Given the description of an element on the screen output the (x, y) to click on. 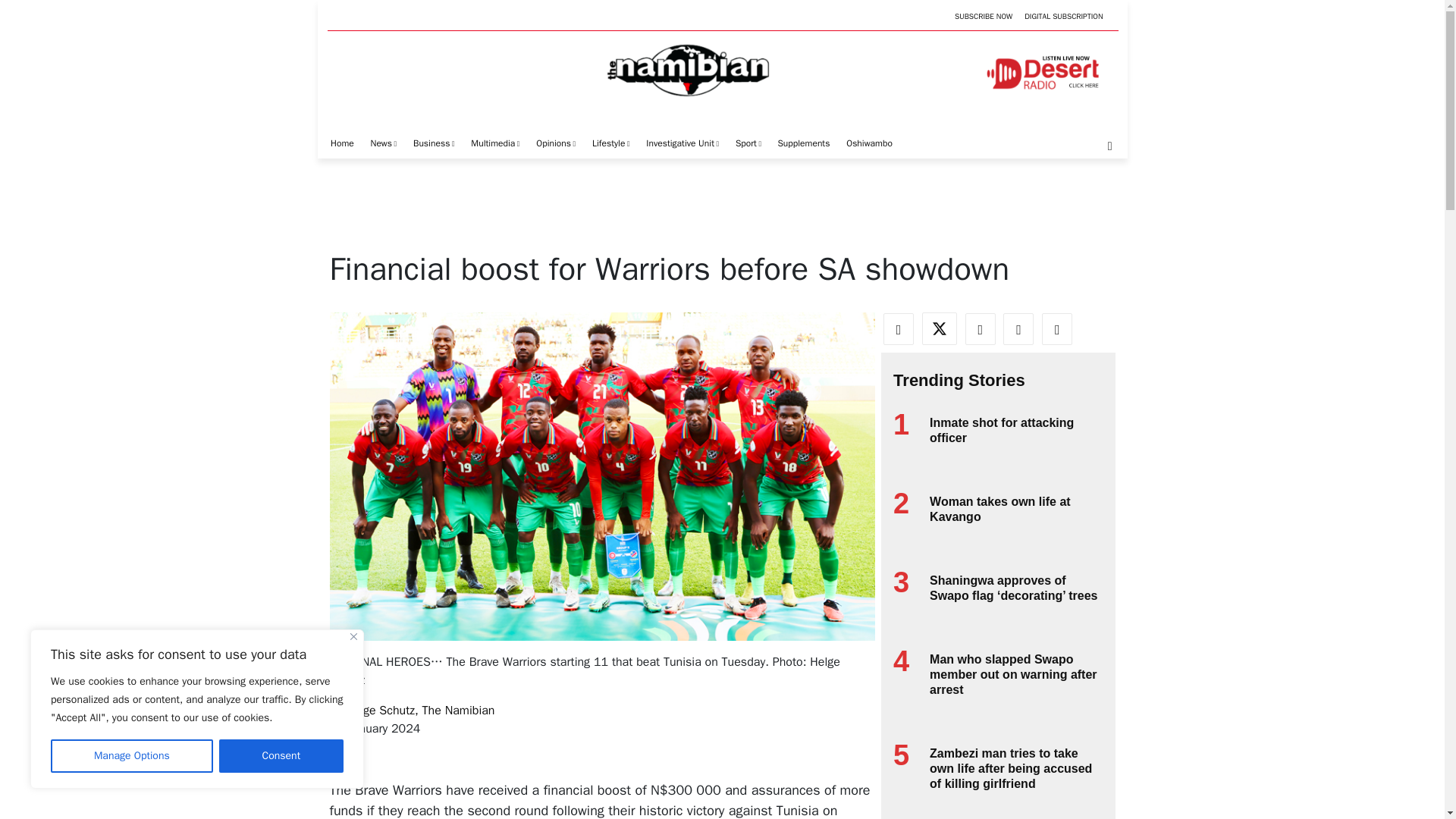
News (383, 143)
Manage Options (131, 756)
Posts by Helge Schutz, The Namibian (420, 710)
Home (341, 143)
SUBSCRIBE NOW (983, 16)
Consent (281, 756)
DIGITAL SUBSCRIPTION (1062, 16)
Business (433, 143)
